Given the description of an element on the screen output the (x, y) to click on. 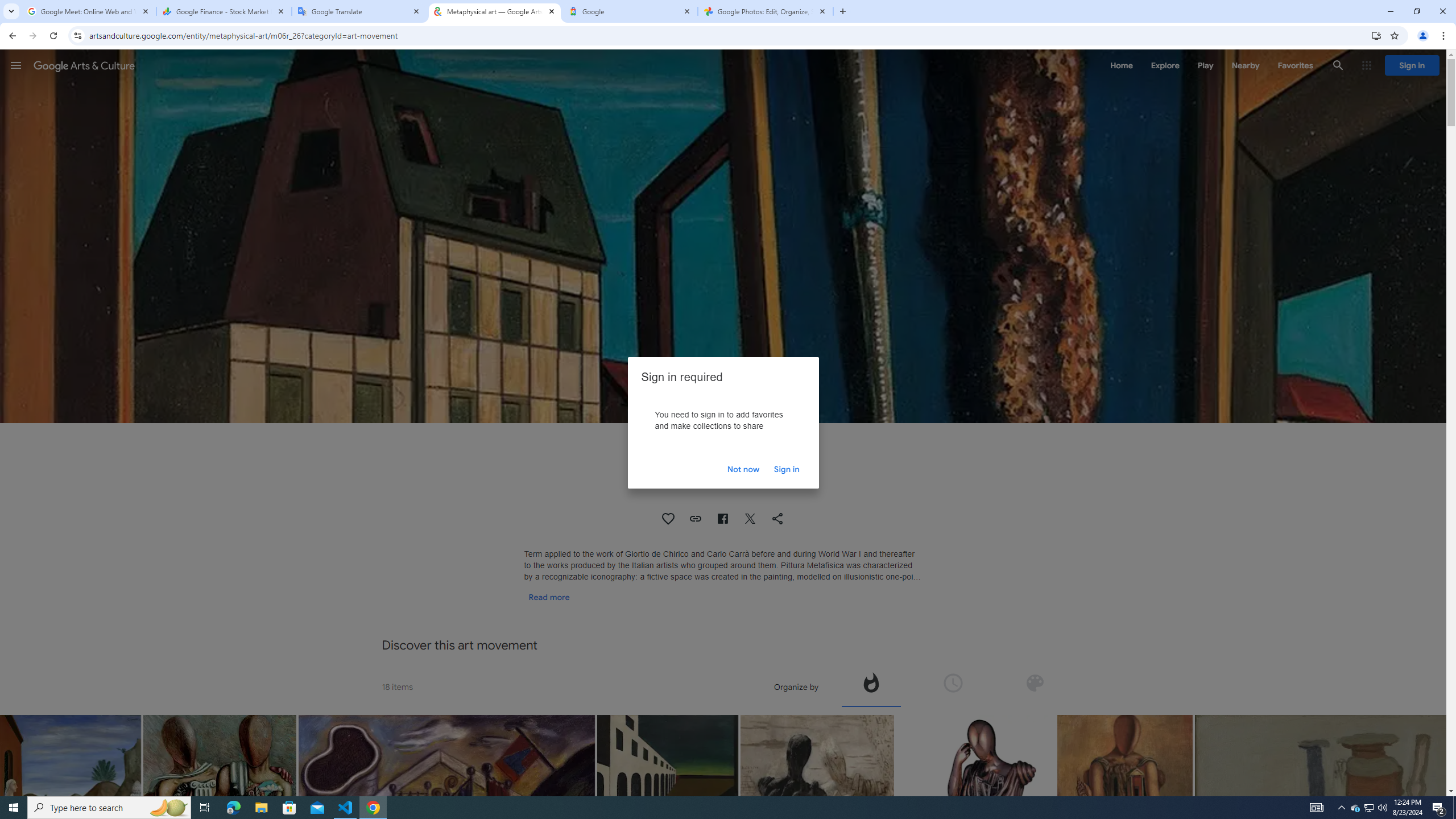
Install Google Arts & Culture (1376, 35)
Explore (1164, 65)
Google Translate (359, 11)
Play (1205, 65)
Google (630, 11)
Home (1120, 65)
